Given the description of an element on the screen output the (x, y) to click on. 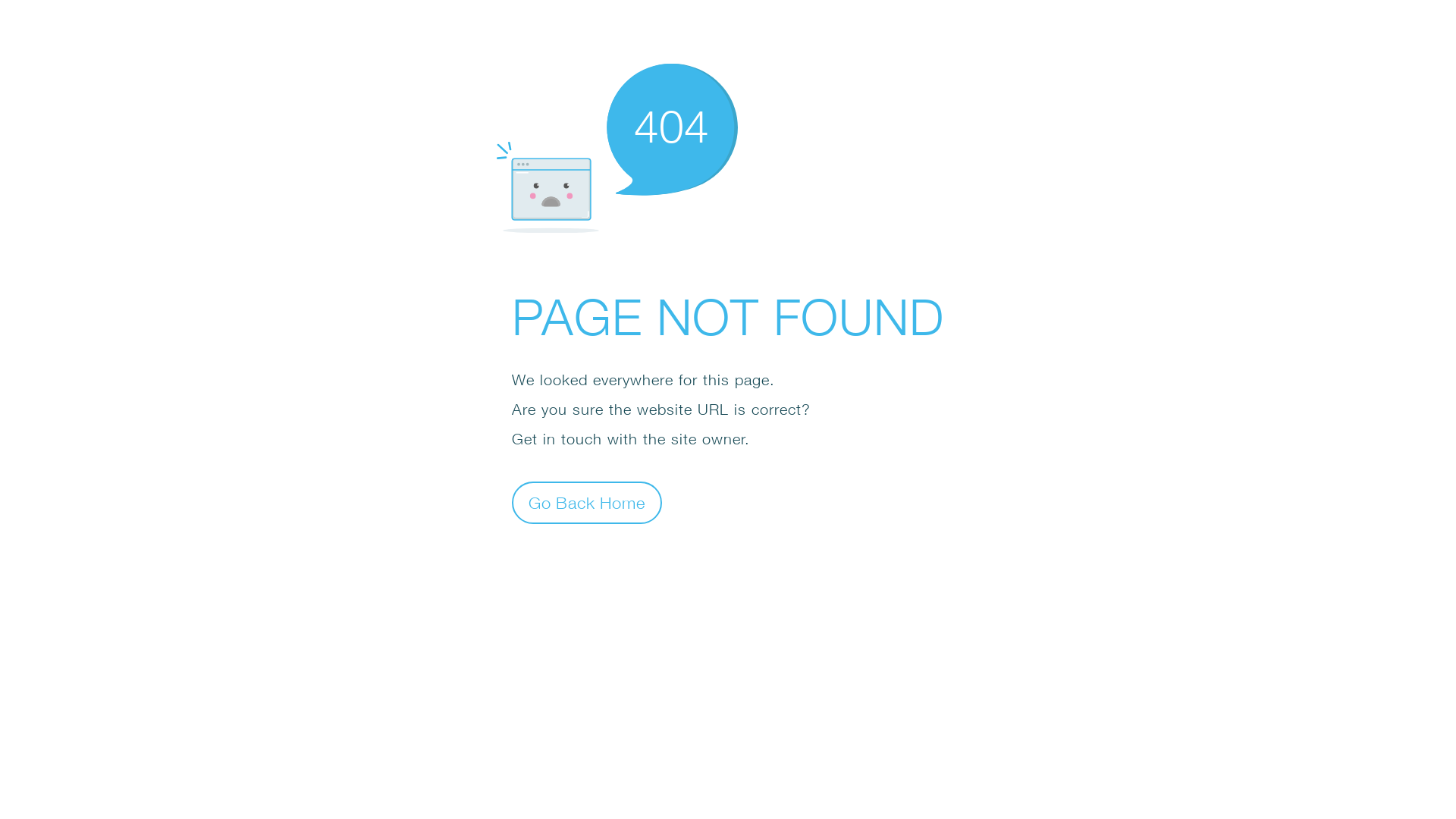
Go Back Home Element type: text (586, 502)
